Given the description of an element on the screen output the (x, y) to click on. 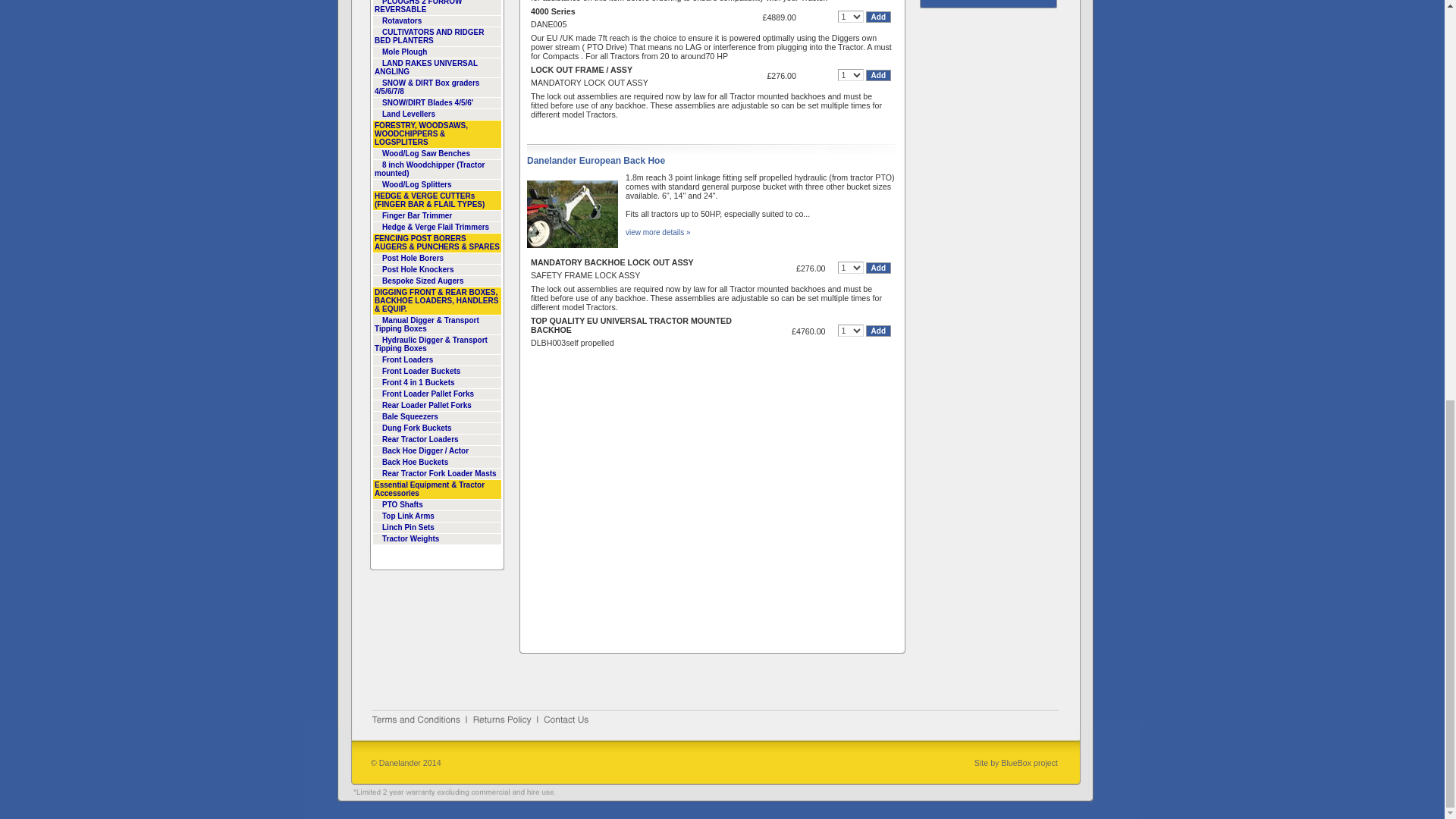
Add (878, 16)
Finger Bar Trimmer (436, 215)
Add (878, 267)
Mole Plough (436, 52)
Add (878, 330)
Rotavators (436, 21)
PLOUGHS 2 FURROW REVERSABLE (436, 7)
Add (878, 75)
Land Levellers (436, 114)
LAND RAKES UNIVERSAL ANGLING (436, 67)
CULTIVATORS AND RIDGER BED PLANTERS (436, 36)
